Given the description of an element on the screen output the (x, y) to click on. 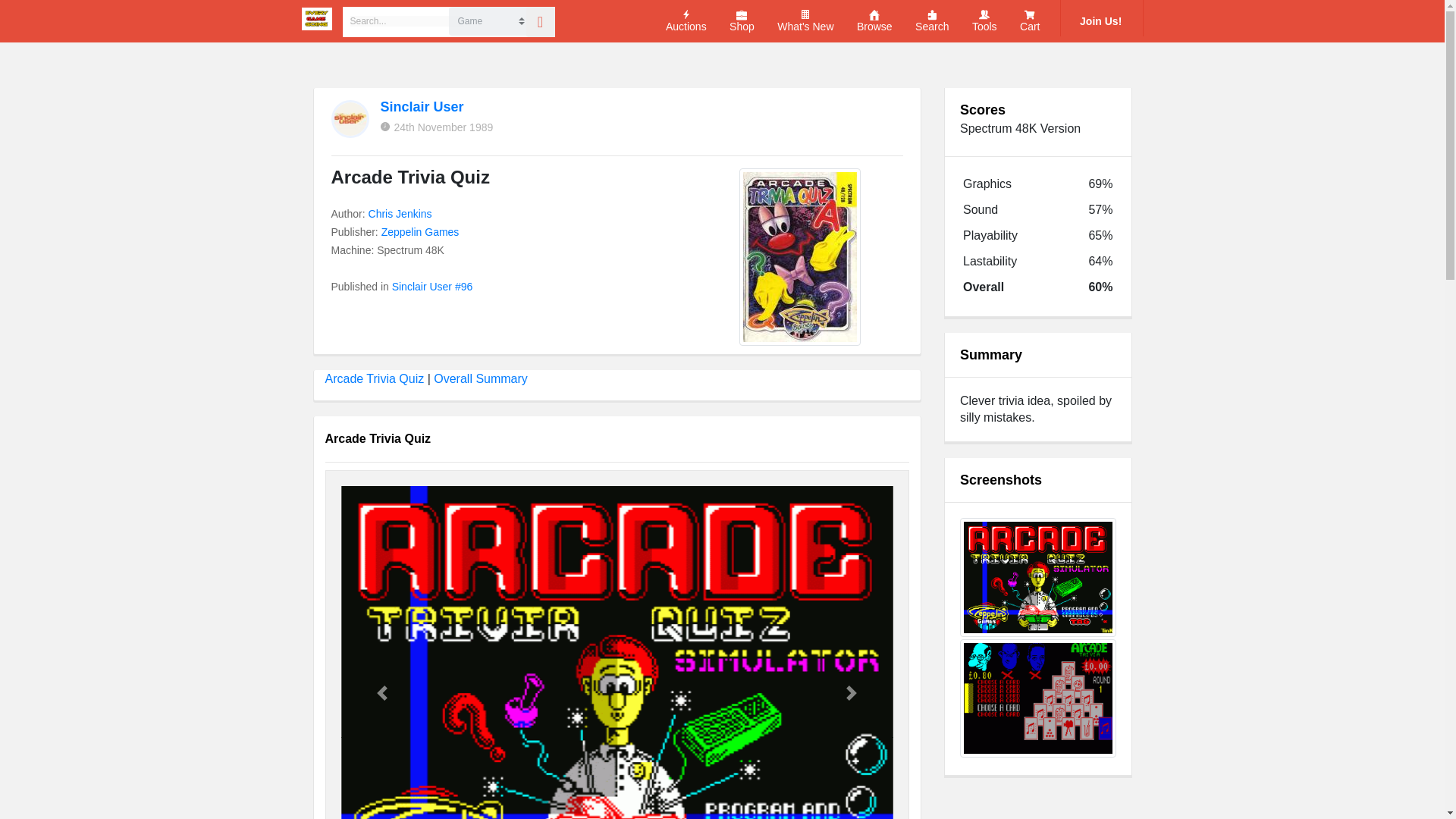
Browse (874, 20)
Shop (741, 20)
Auctions (685, 20)
What's New (804, 20)
Tools (984, 20)
Search (932, 20)
